Given the description of an element on the screen output the (x, y) to click on. 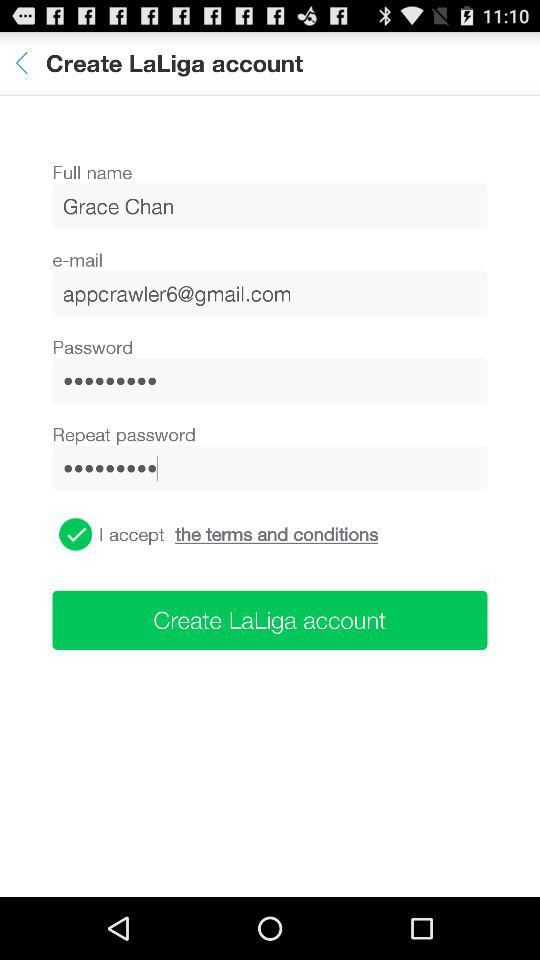
scroll to the appcrawler6@gmail.com icon (269, 293)
